Given the description of an element on the screen output the (x, y) to click on. 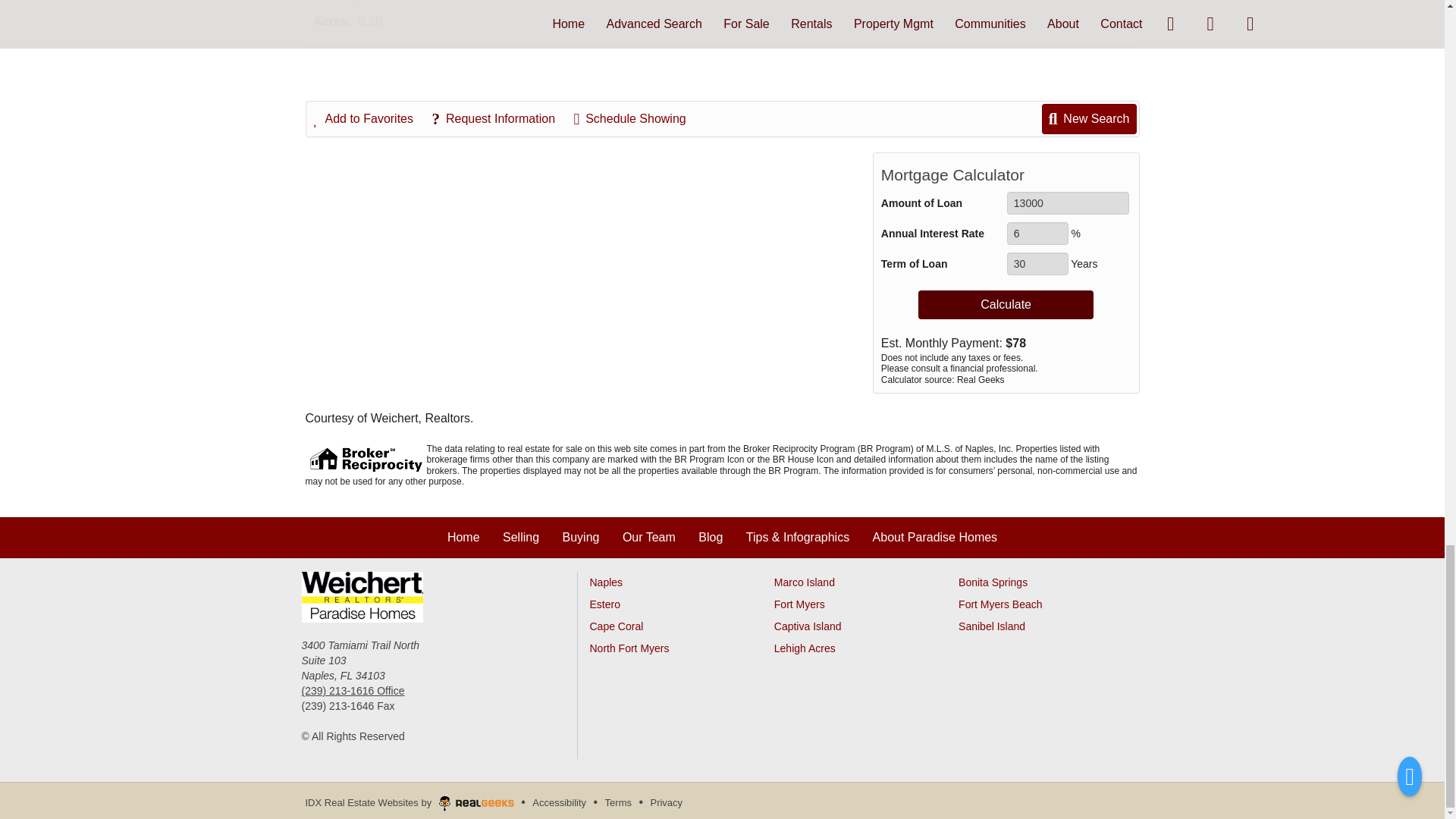
6 (1037, 232)
30 (1037, 263)
13000 (1068, 202)
